Given the description of an element on the screen output the (x, y) to click on. 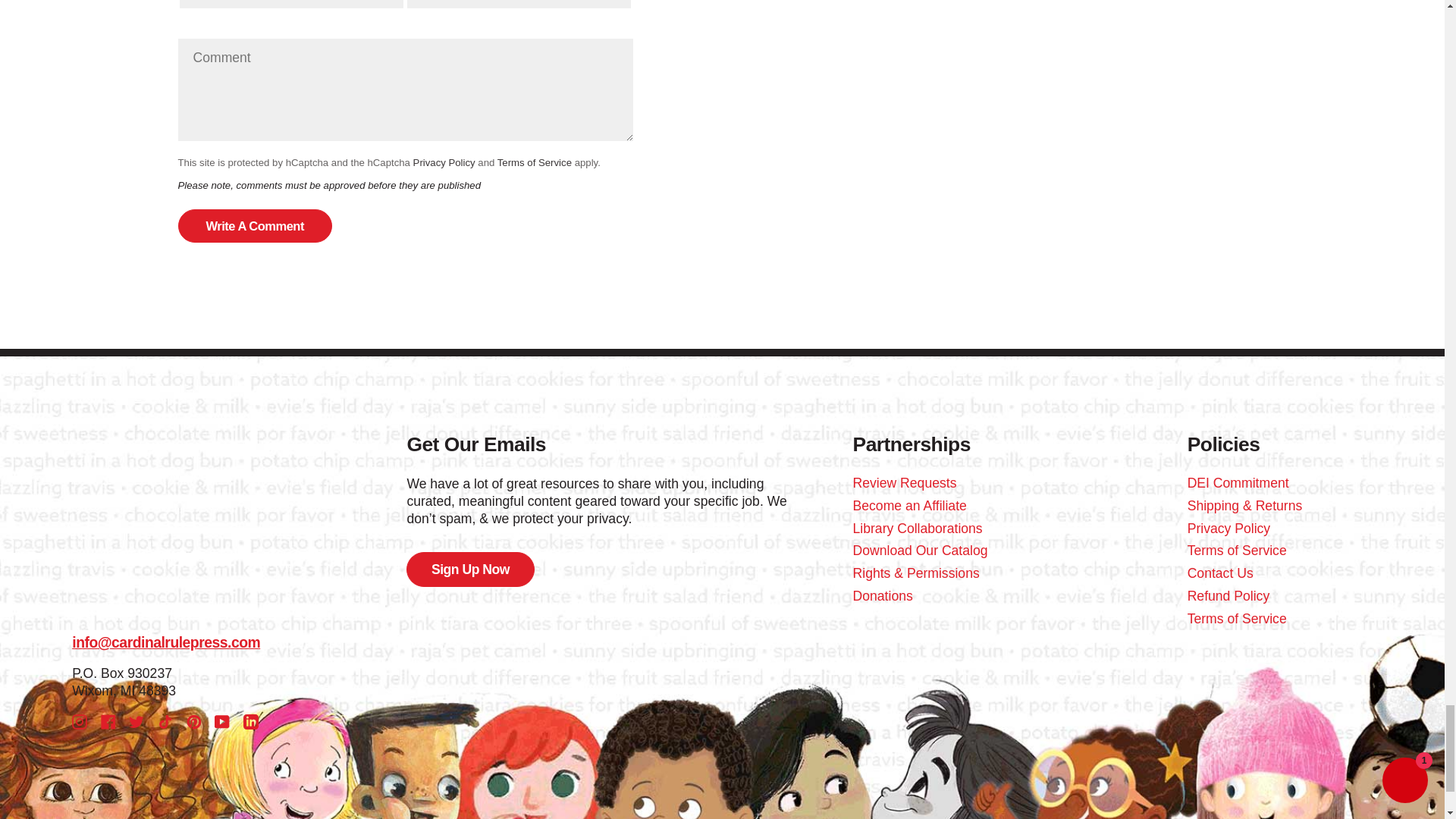
Write a comment (254, 225)
